Given the description of an element on the screen output the (x, y) to click on. 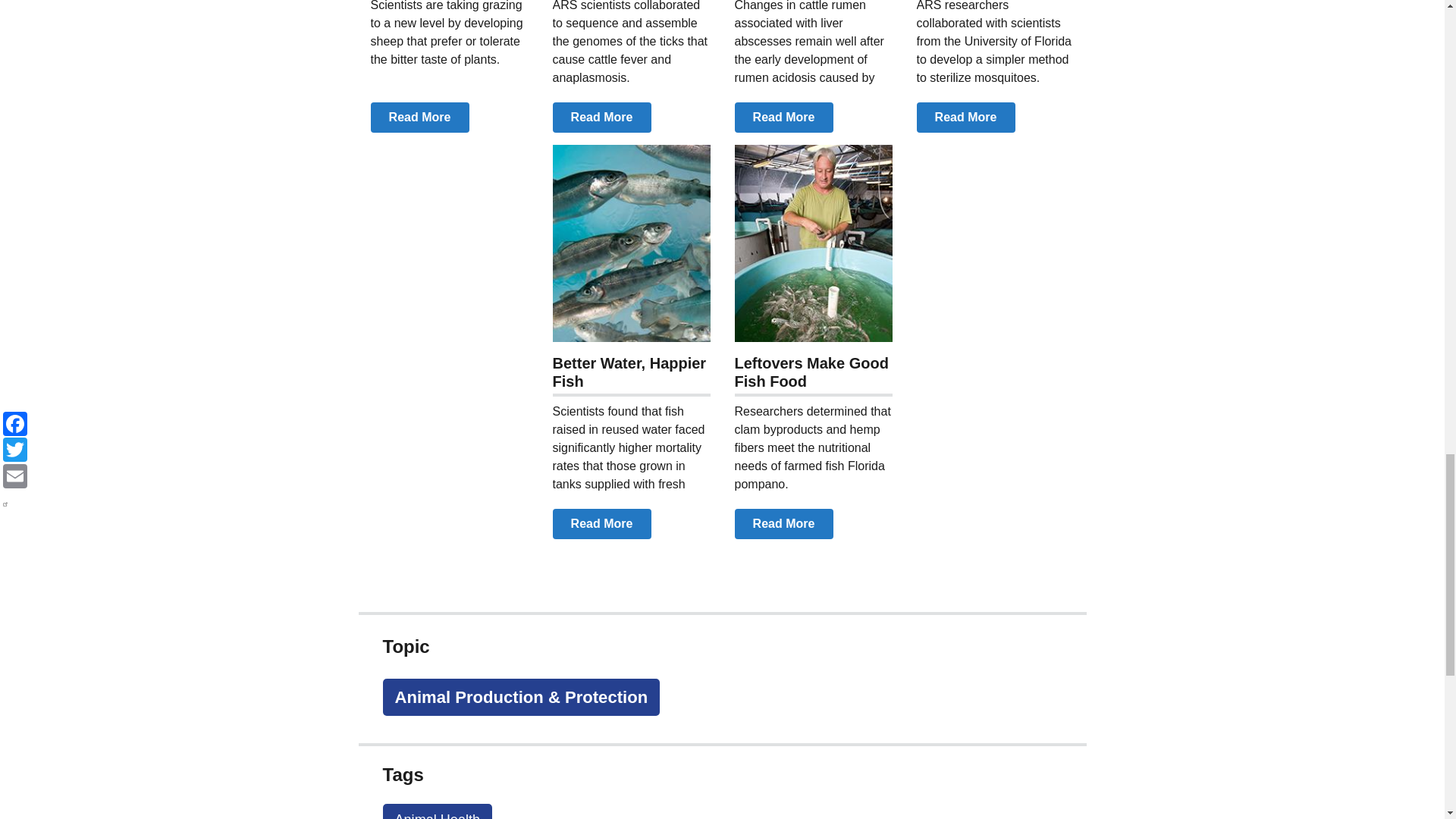
Animal Health (436, 811)
Read More (600, 117)
Read More (782, 117)
Read More (600, 523)
Read More (964, 117)
Read More (418, 117)
Read More (782, 523)
